Given the description of an element on the screen output the (x, y) to click on. 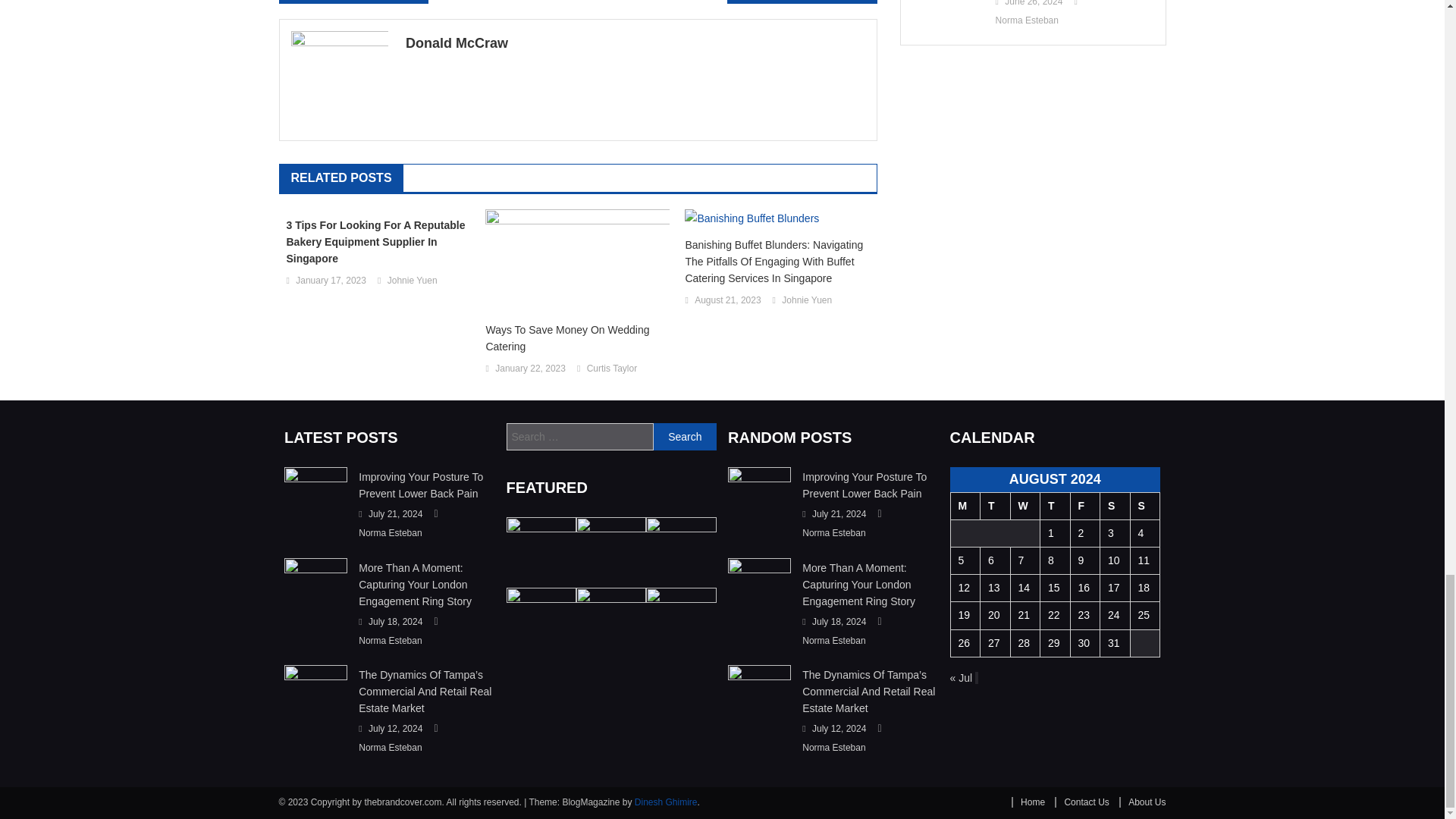
Sunday (1144, 505)
Donald McCraw (635, 43)
Saturday (1114, 505)
Monday (964, 505)
TIME TO CONSULT MOTORCYCLE ACCIDENT LAWYER (801, 2)
Wednesday (1025, 505)
Thursday (1055, 505)
Search (684, 436)
Friday (1085, 505)
Search (684, 436)
Tuesday (994, 505)
